Given the description of an element on the screen output the (x, y) to click on. 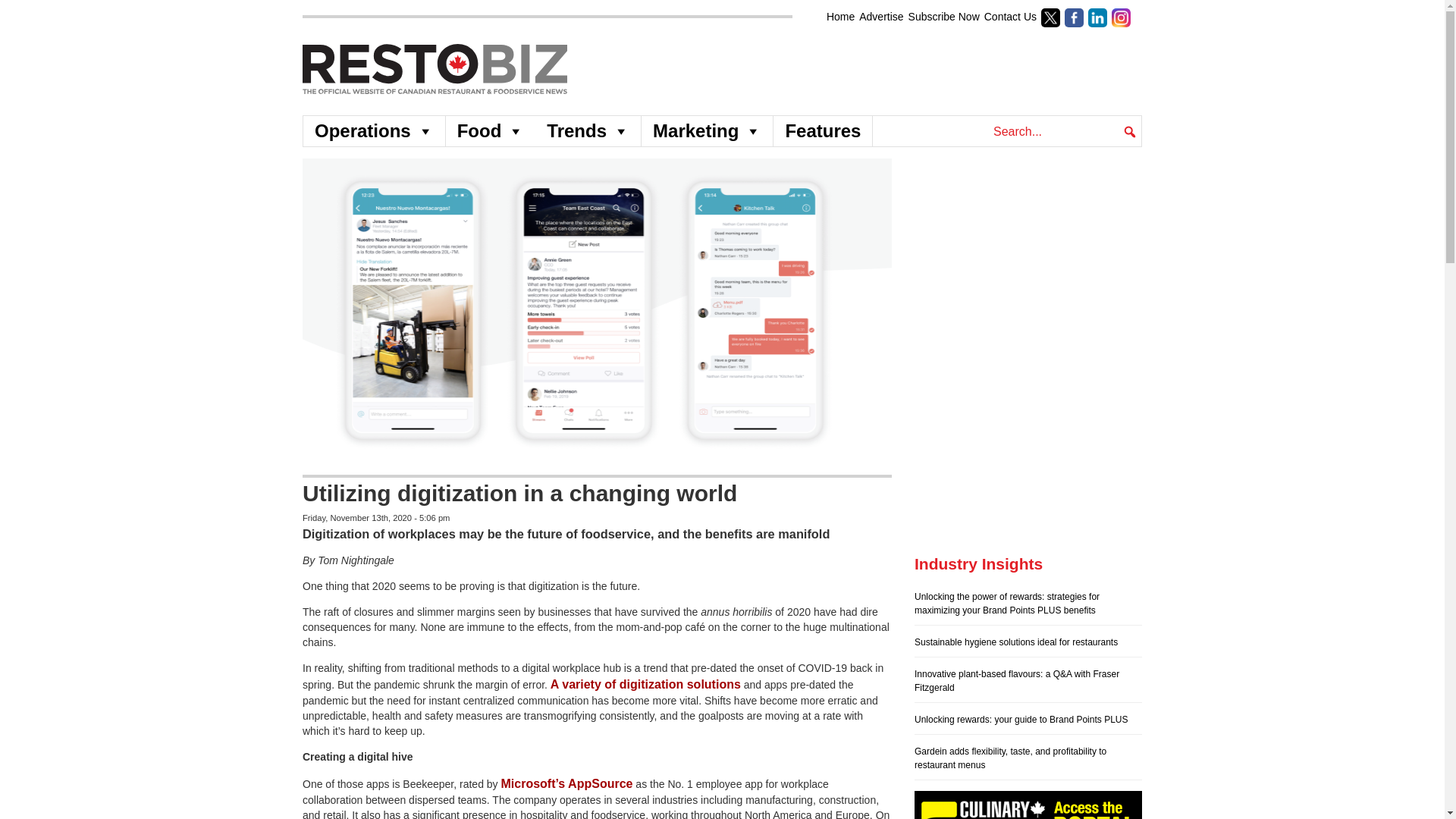
Subscribe Now (943, 16)
Contact Us (1010, 16)
3rd party ad content (1027, 253)
Operations (373, 131)
Trends (588, 131)
Food (490, 131)
Search (25, 13)
Industry Insights (978, 563)
3rd party ad content (1027, 457)
Features (822, 131)
